Given the description of an element on the screen output the (x, y) to click on. 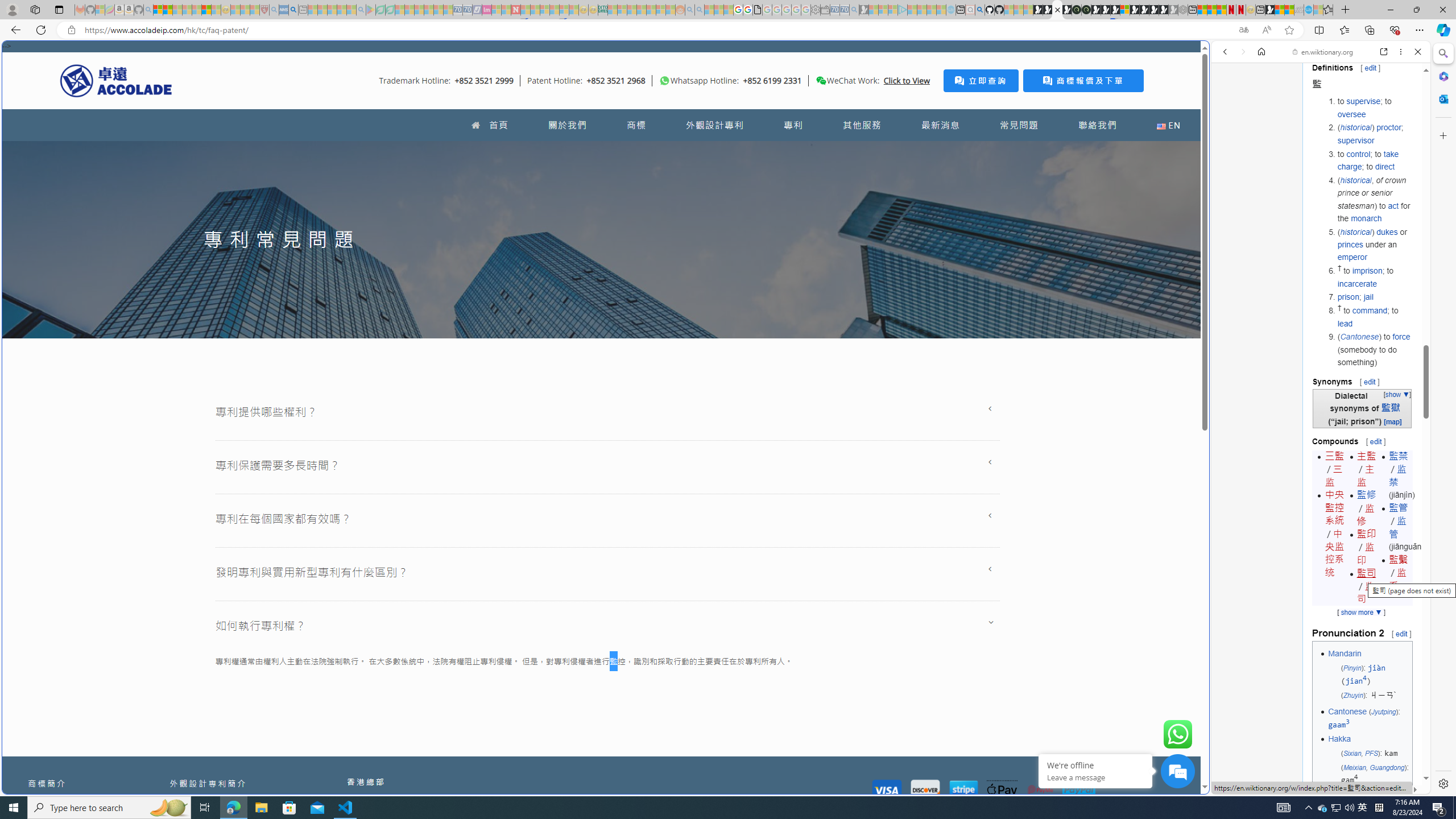
Jyutping (1383, 711)
Add this page to favorites (Ctrl+D) (1289, 29)
Close (1417, 51)
Favorites (1327, 9)
